Given the description of an element on the screen output the (x, y) to click on. 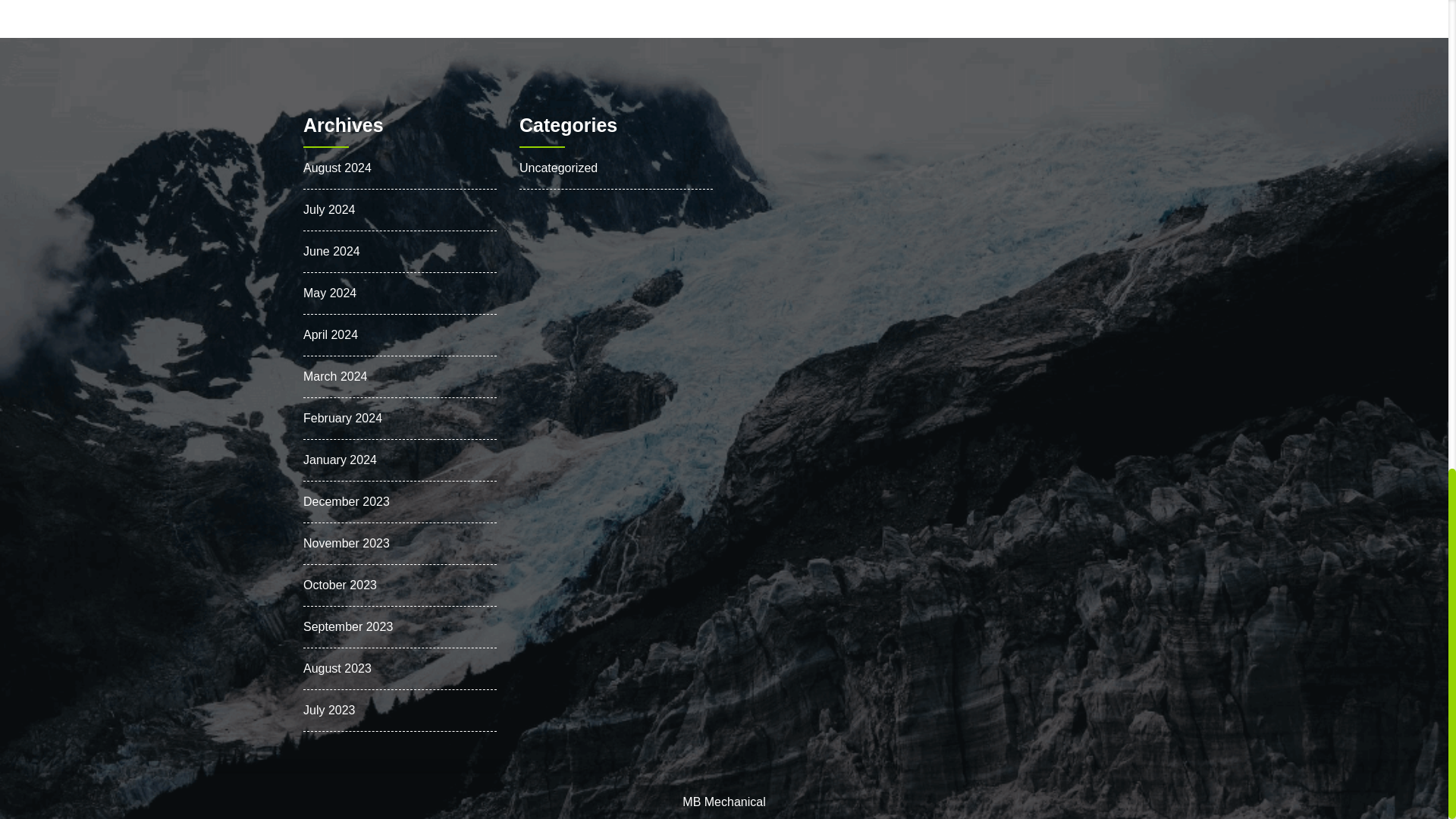
October 2023 (339, 584)
June 2024 (330, 250)
April 2024 (330, 334)
August 2024 (336, 167)
March 2024 (335, 375)
Uncategorized (557, 167)
November 2023 (346, 542)
February 2024 (341, 418)
July 2023 (328, 708)
August 2023 (336, 667)
